Given the description of an element on the screen output the (x, y) to click on. 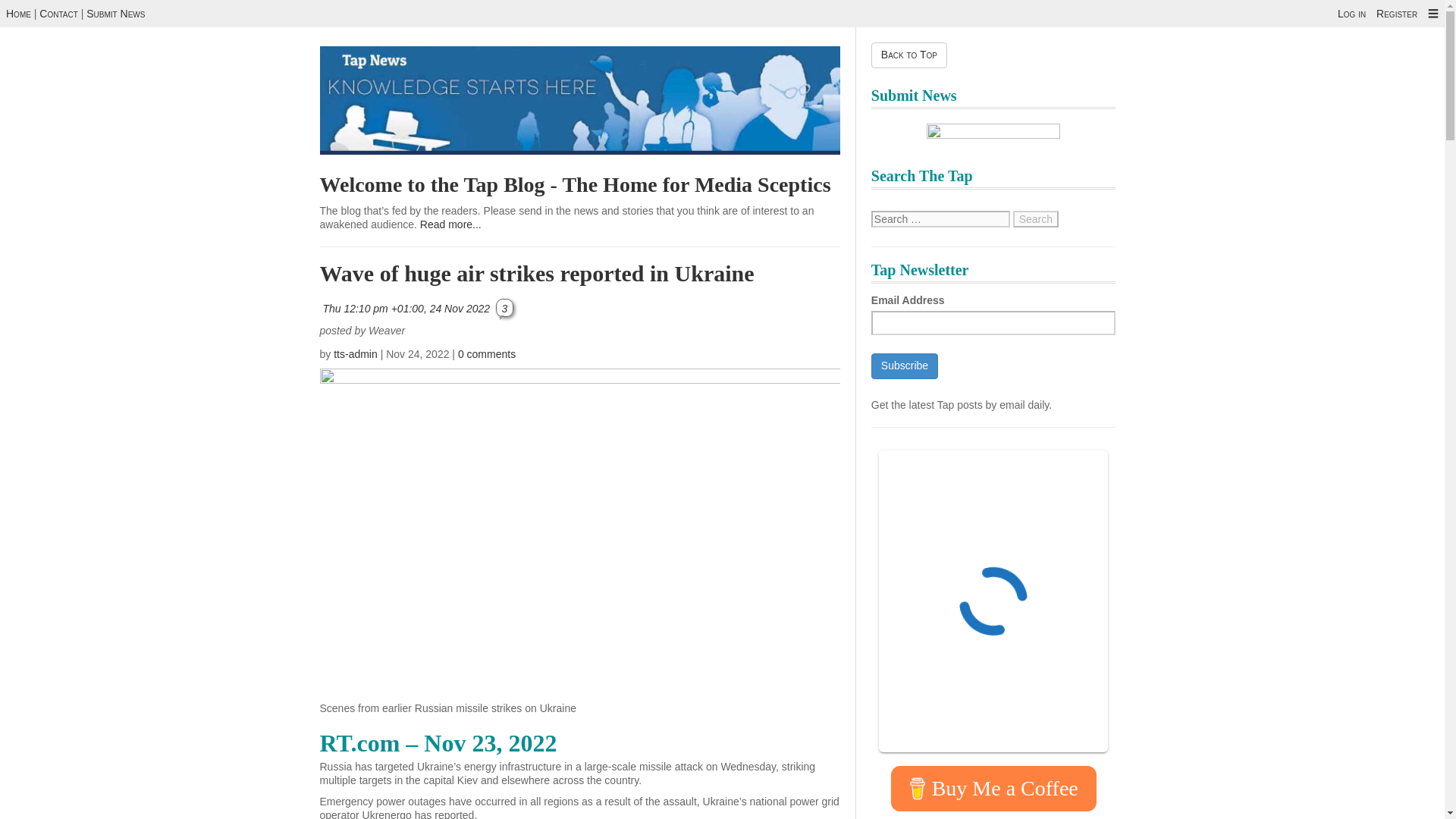
3 (504, 307)
tts-admin (355, 354)
Back to Top (908, 54)
0 comments (486, 354)
Contact Us (114, 13)
Submit News (114, 13)
Contact Us (58, 13)
Posts by tts-admin (355, 354)
Permanent Link to Welcome to The Tap Blog (575, 184)
Log in (1351, 13)
Wave of huge air strikes reported in Ukraine (537, 273)
Register (1395, 13)
Read more... (450, 224)
Search (1035, 218)
